Given the description of an element on the screen output the (x, y) to click on. 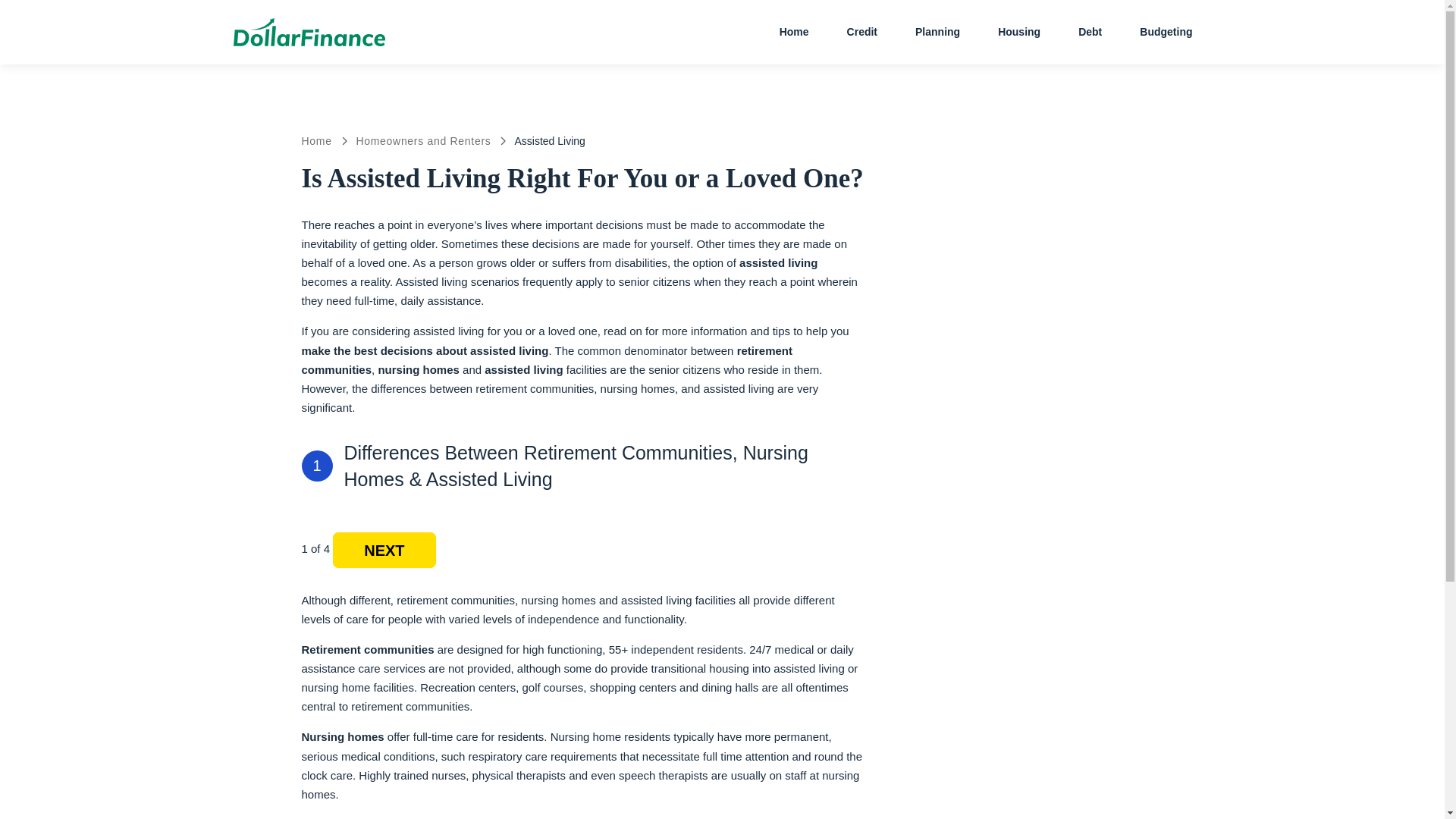
NEXT (384, 550)
Home (316, 141)
Homeowners and Renters (422, 141)
